Given the description of an element on the screen output the (x, y) to click on. 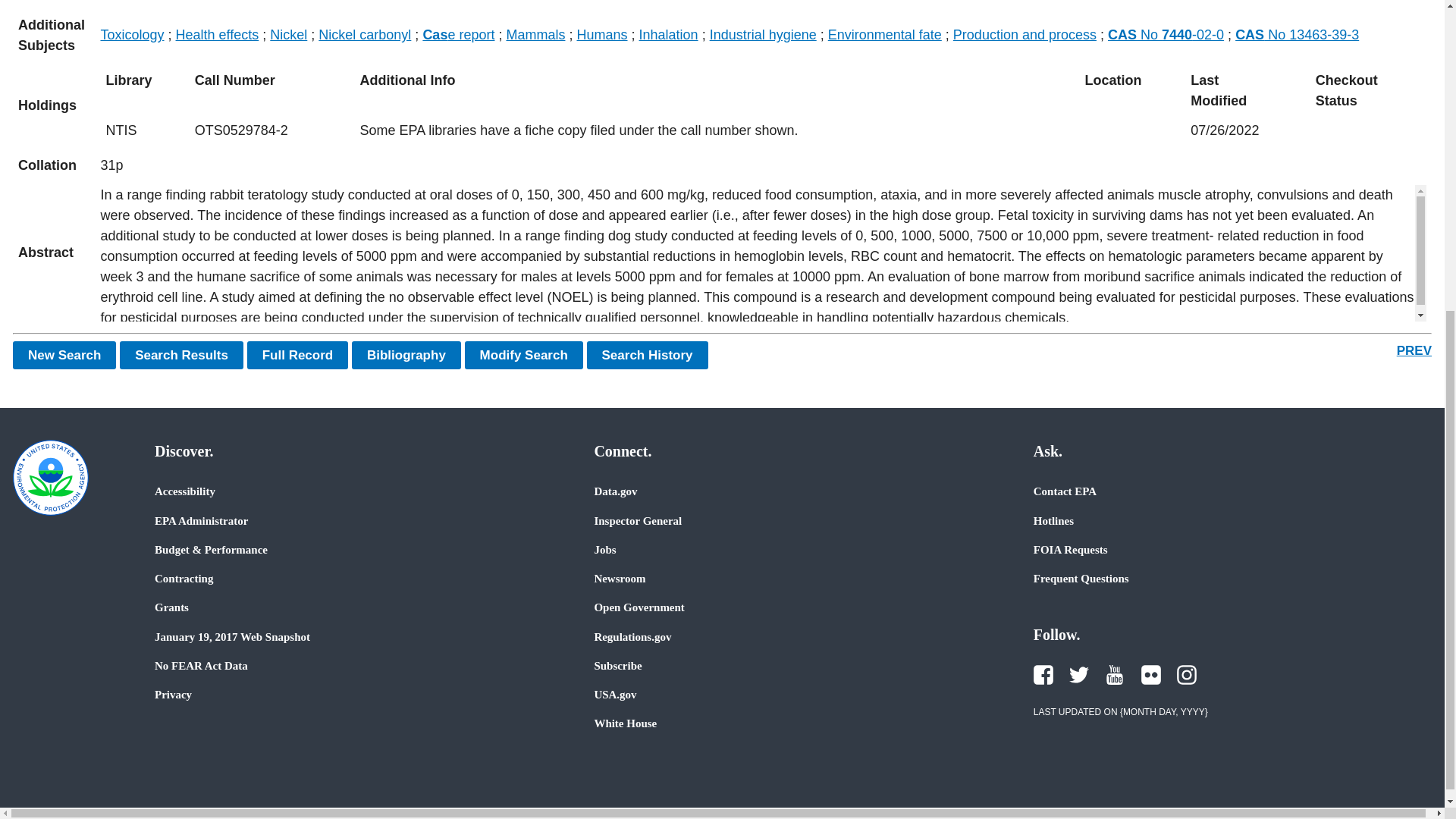
Environmental fate (885, 34)
CAS No 7440-02-0 (1166, 34)
Industrial hygiene (763, 34)
Grants (171, 607)
Newsroom (619, 578)
CAS No 13463-39-3 (1296, 34)
PREV (1413, 350)
Inspector General (637, 520)
Full Record (298, 355)
Modify Search (523, 355)
